Given the description of an element on the screen output the (x, y) to click on. 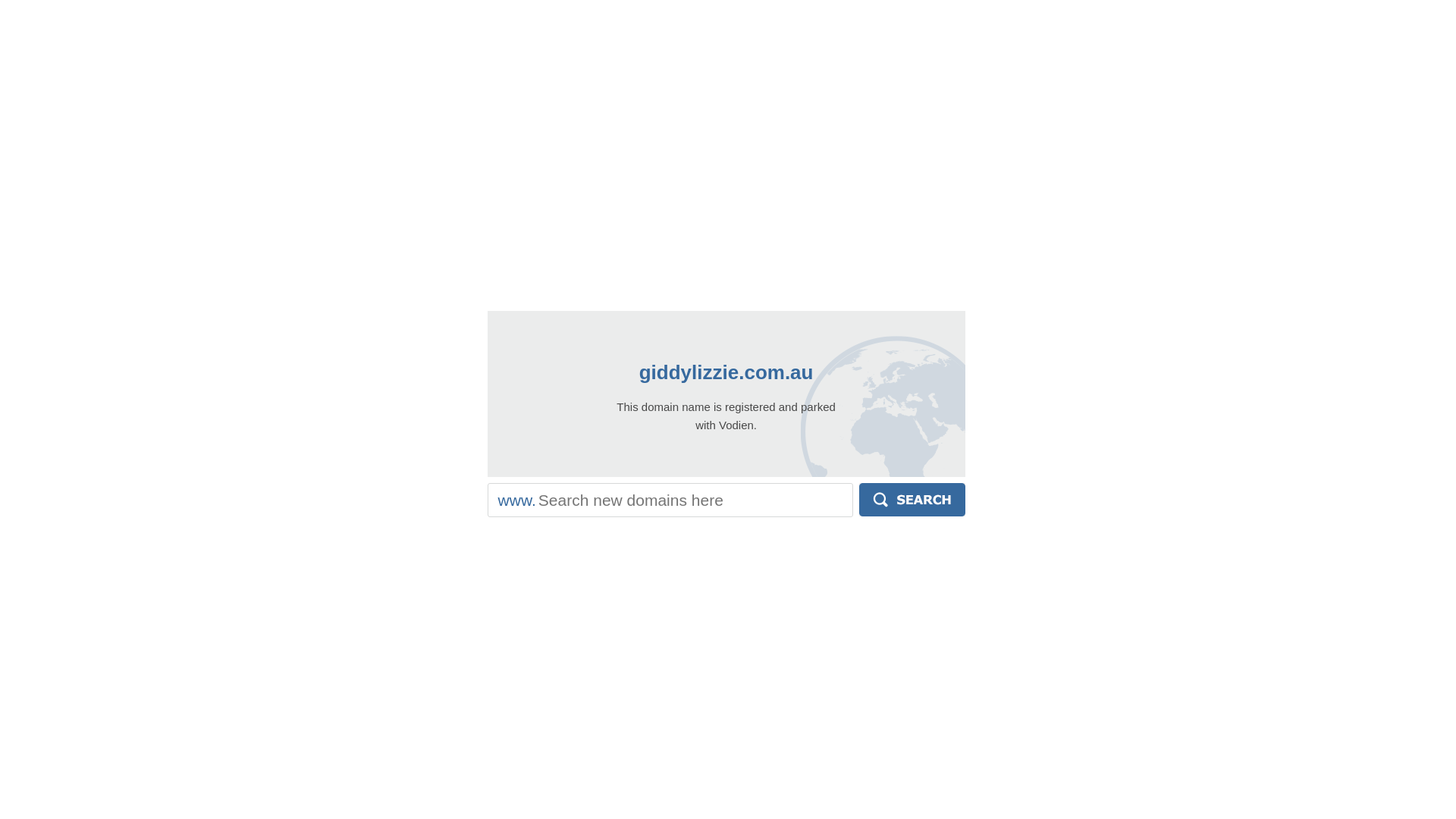
Search Element type: text (912, 499)
